Given the description of an element on the screen output the (x, y) to click on. 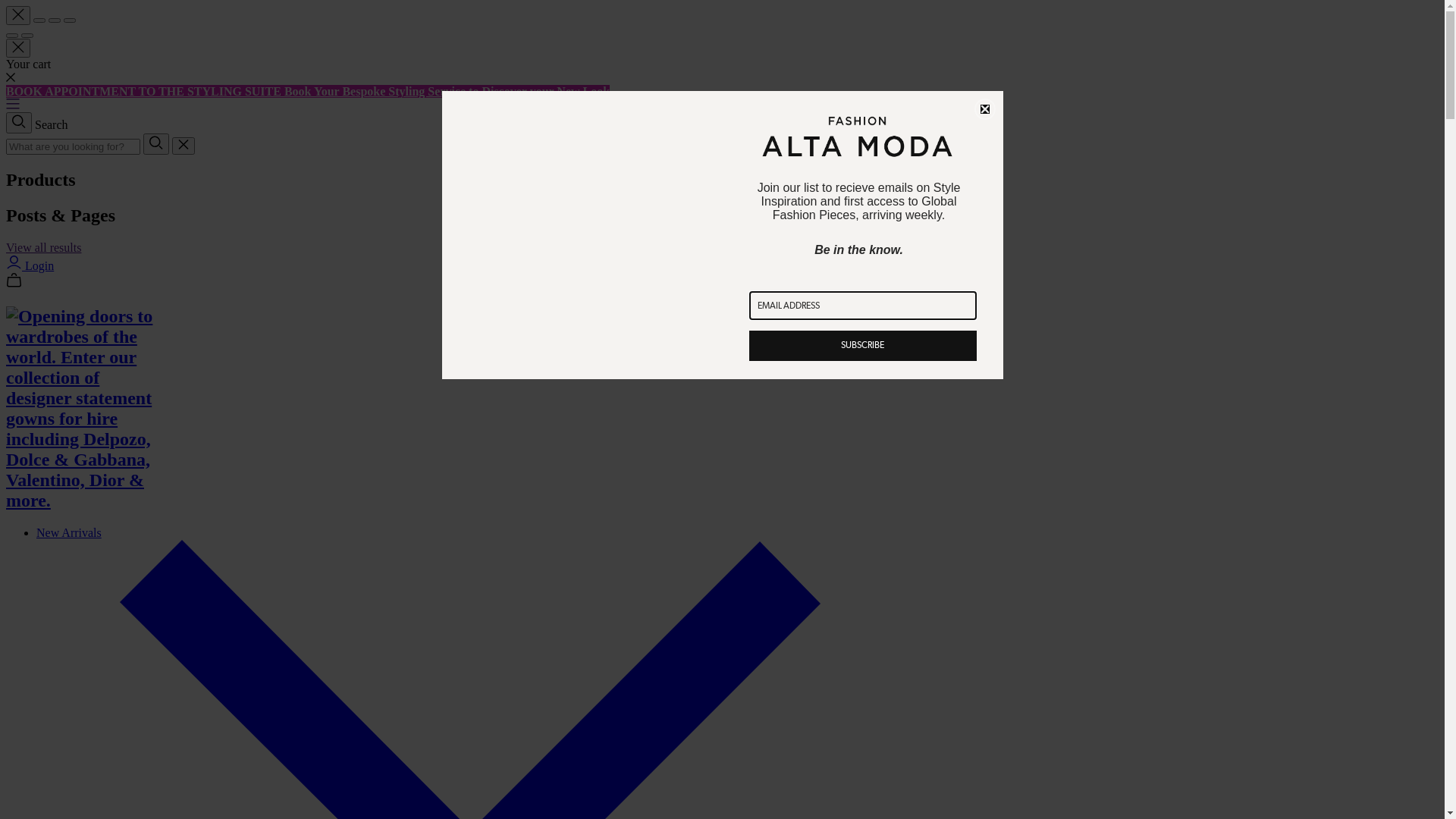
Close Icon Element type: text (183, 145)
Close Thin Icon Element type: text (18, 47)
Zoom in/out Element type: hover (69, 20)
Next (arrow right) Element type: hover (27, 35)
New Arrivals Element type: text (68, 532)
Share Element type: hover (39, 20)
View all results Element type: text (43, 247)
Search Icon Element type: text (156, 143)
Search Icon Element type: text (18, 122)
Toggle fullscreen Element type: hover (54, 20)
Close Thin Icon Element type: text (18, 15)
Previous (arrow left) Element type: hover (12, 35)
Person Icon Login Element type: text (29, 265)
Menu Icon Element type: text (12, 104)
Close Element type: hover (984, 109)
